Given the description of an element on the screen output the (x, y) to click on. 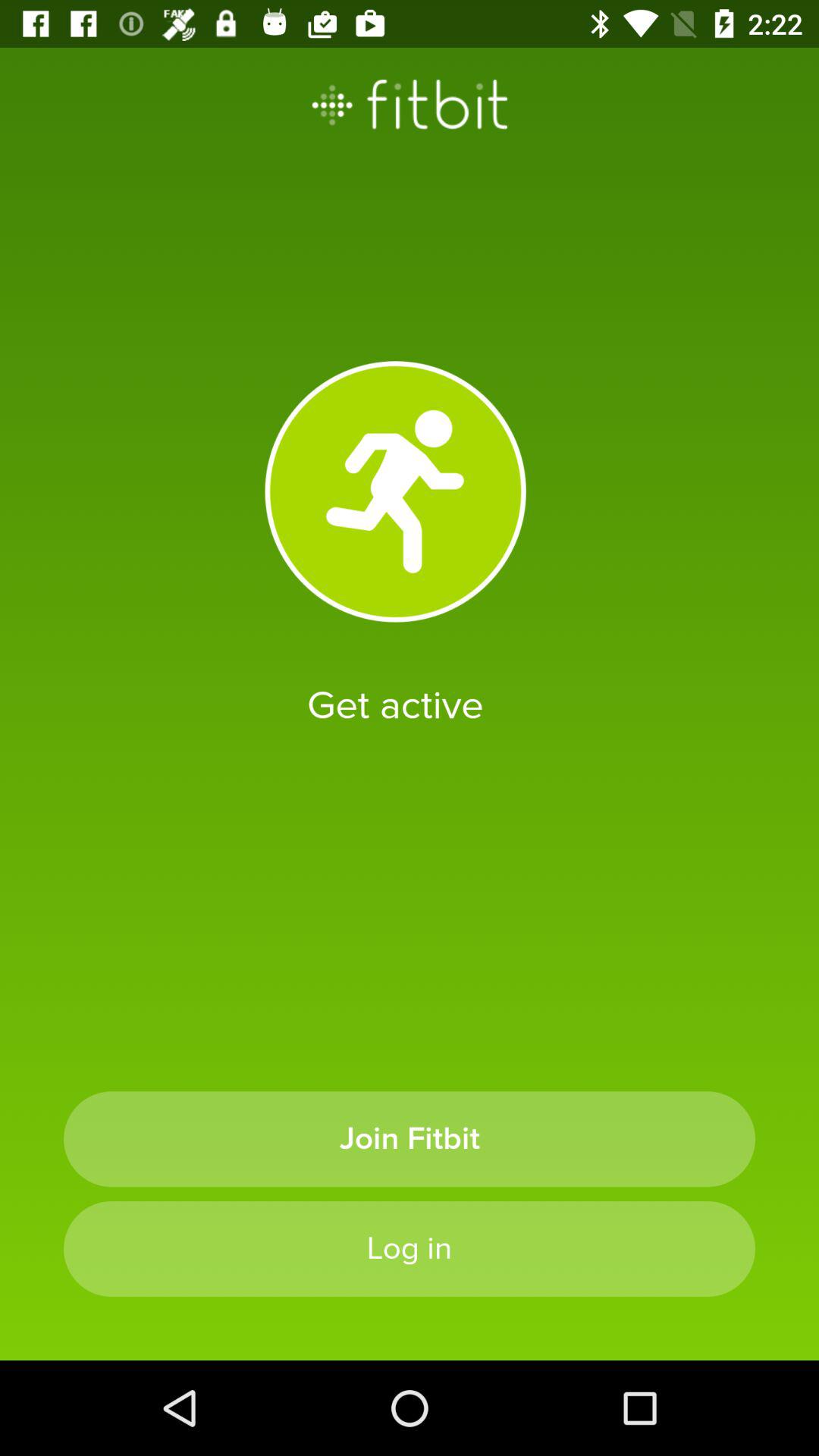
tap the icon below the get active (409, 1138)
